Given the description of an element on the screen output the (x, y) to click on. 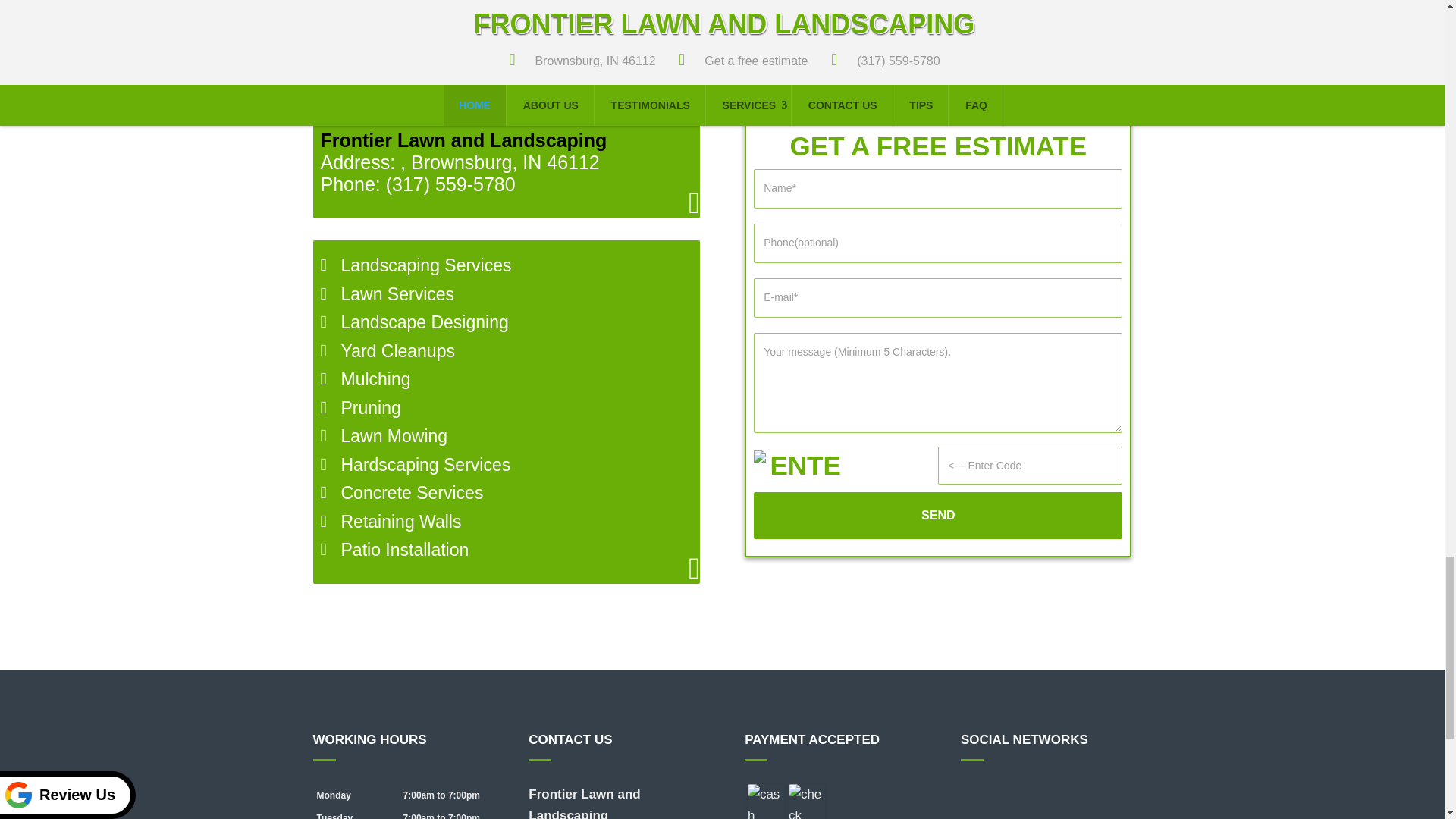
Customer Name (938, 188)
Code (1029, 465)
Check company profile on twitter (1029, 795)
Check company profile on facebook (972, 795)
Customer E-mail (938, 297)
facebook (972, 795)
cash payment accepted (766, 801)
Phone (938, 242)
Check company profile on google (1001, 795)
Send (938, 515)
